Given the description of an element on the screen output the (x, y) to click on. 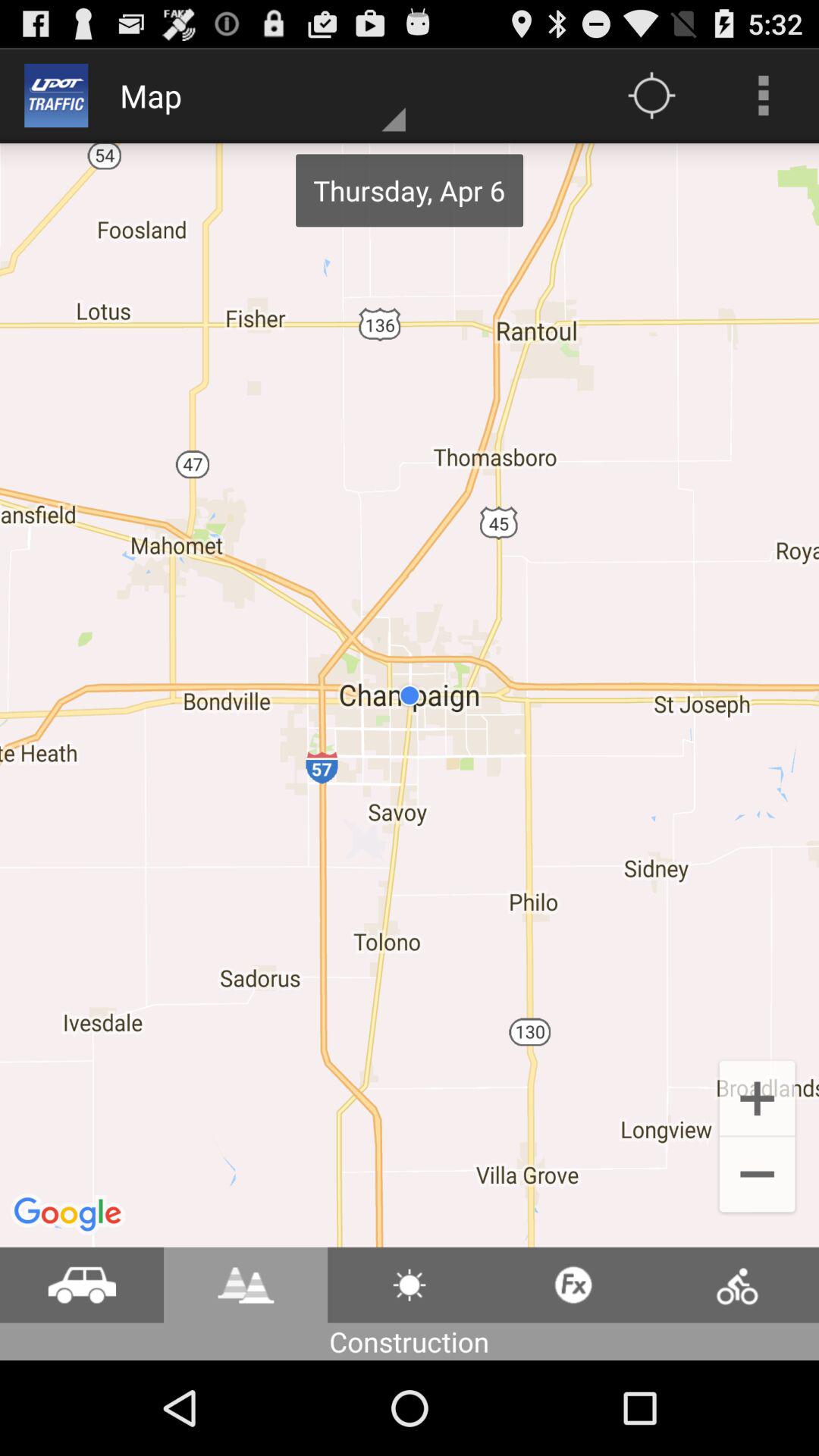
location for vihicles in road (81, 1284)
